Given the description of an element on the screen output the (x, y) to click on. 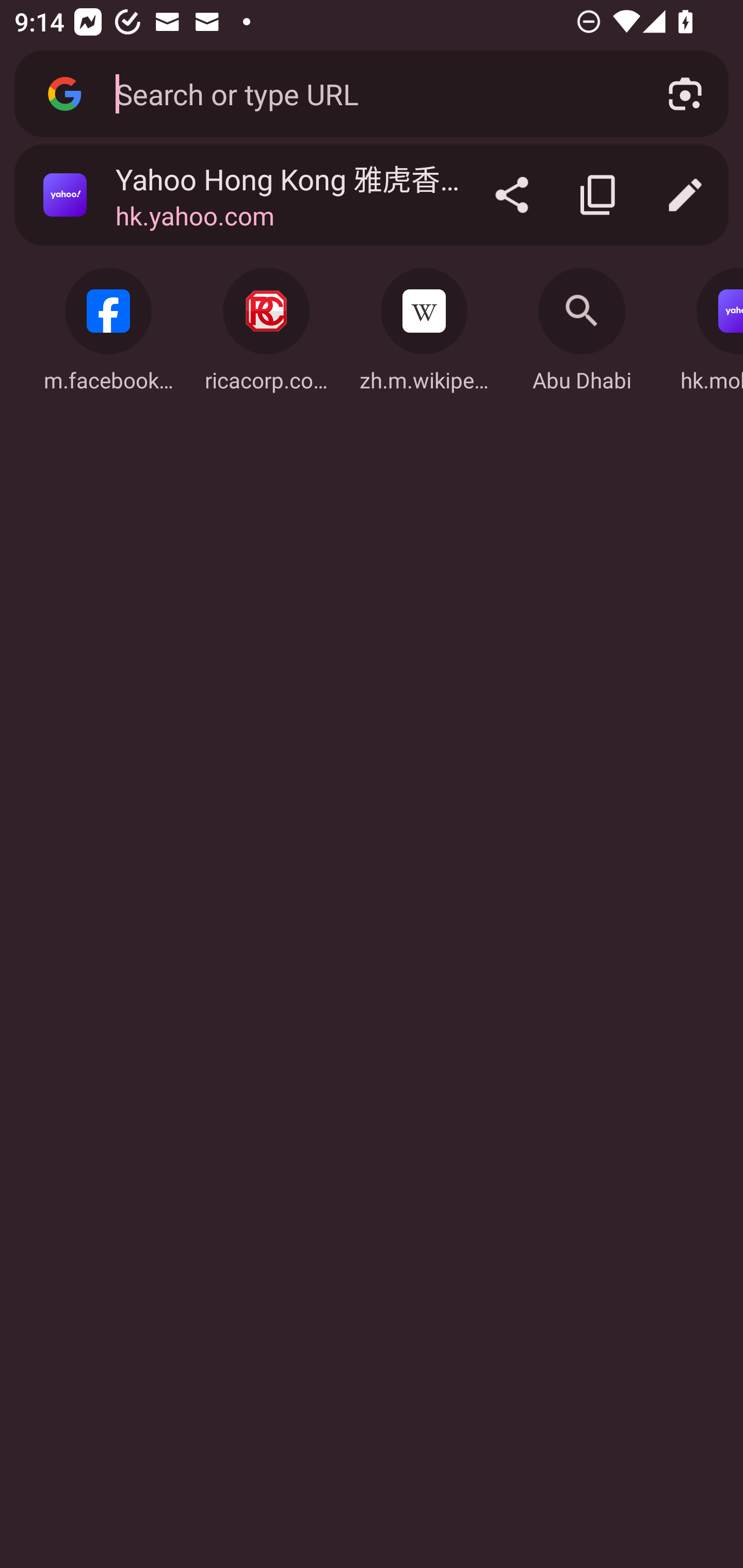
Search with your camera using Google Lens (684, 93)
Search or type URL (367, 92)
Share… (511, 195)
Copy link (598, 195)
Edit (684, 195)
Search: Abu Dhabi Abu Dhabi (581, 324)
